Given the description of an element on the screen output the (x, y) to click on. 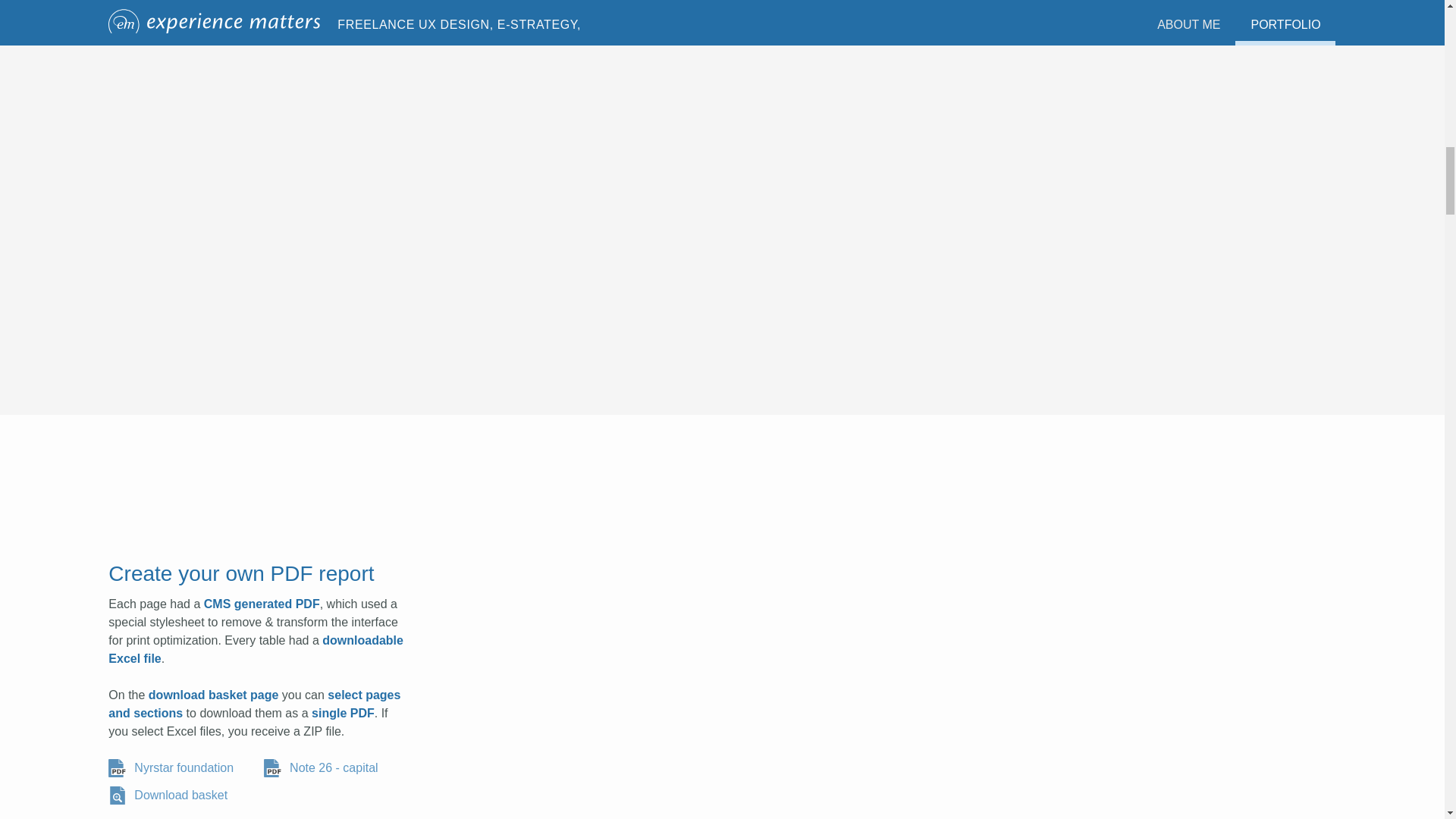
Nyrstar foundation (174, 768)
Note 26 - capital (324, 768)
Download basket (171, 795)
